Given the description of an element on the screen output the (x, y) to click on. 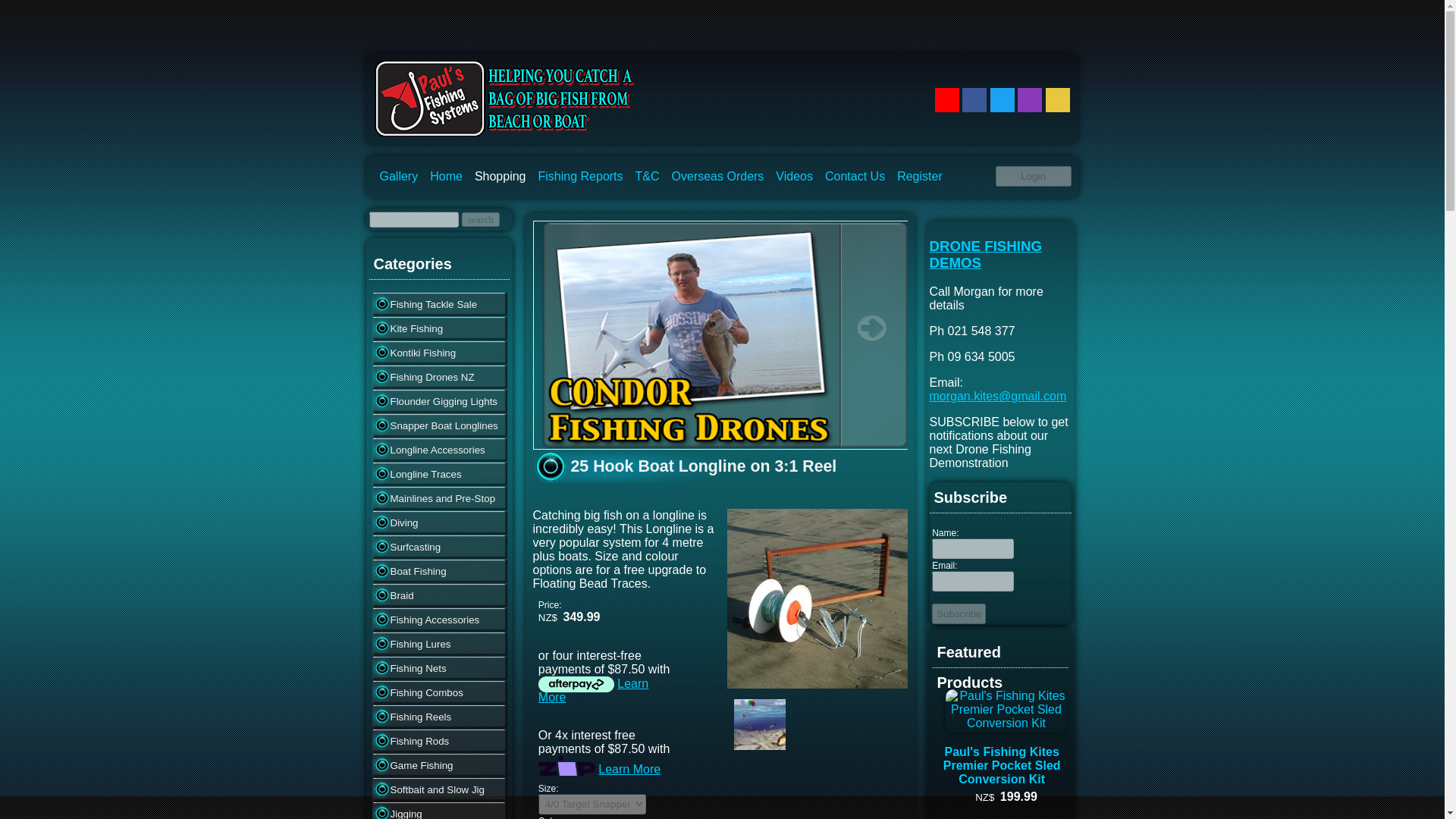
Connect with us: YouTube paulauckland (946, 99)
Gallery (397, 176)
Drone Fishing (720, 445)
Home (445, 176)
25 Hook Boat Longline on 3:1 Reel (816, 684)
Connect with us: Facebook PaulsFishingSystems (974, 99)
Shopping (500, 176)
Subscribe (958, 613)
Login (1032, 176)
